Given the description of an element on the screen output the (x, y) to click on. 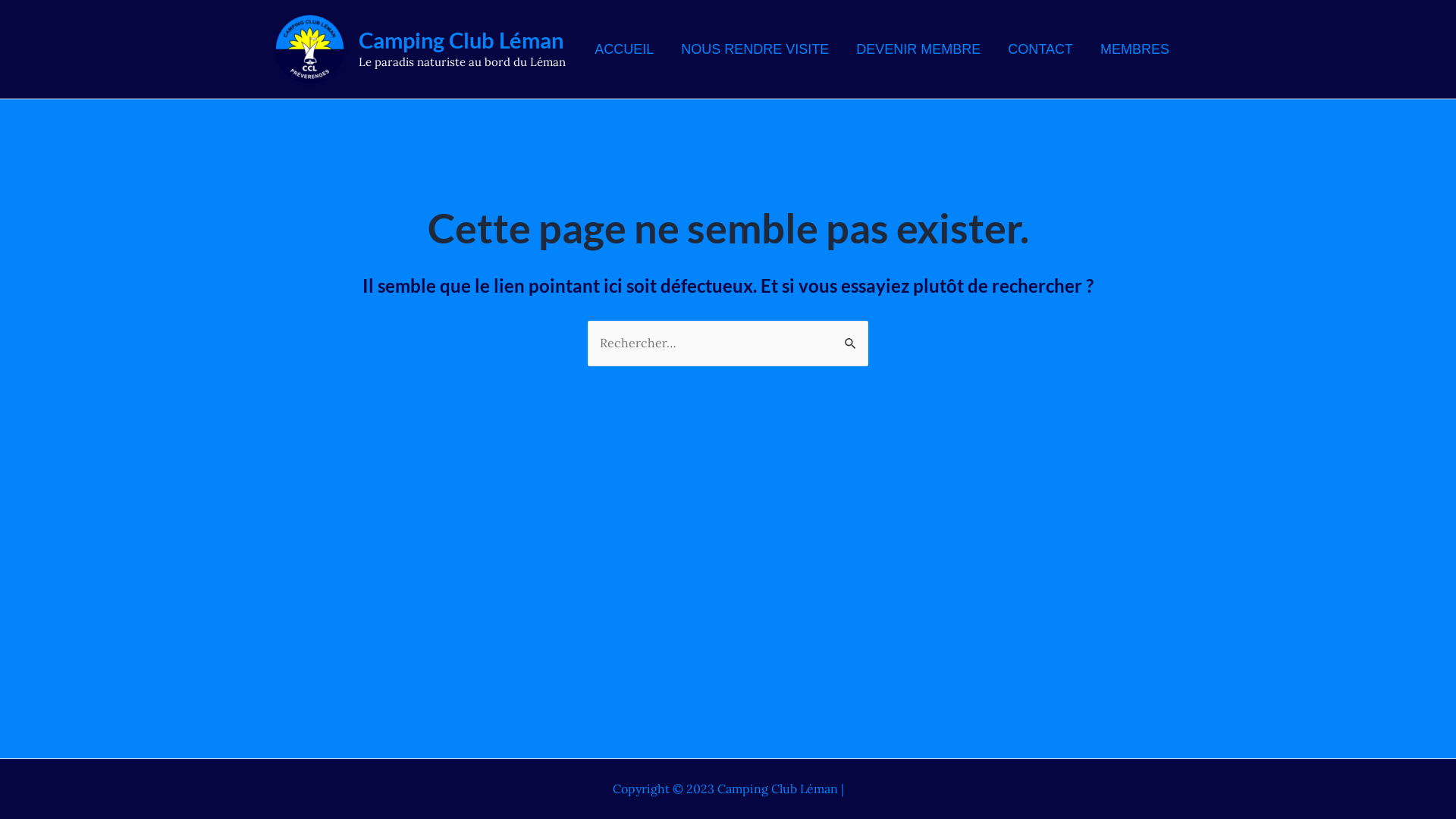
ACCUEIL Element type: text (623, 48)
MEMBRES Element type: text (1134, 48)
Rechercher Element type: text (851, 336)
NOUS RENDRE VISITE Element type: text (754, 48)
DEVENIR MEMBRE Element type: text (918, 48)
CONTACT Element type: text (1040, 48)
